Given the description of an element on the screen output the (x, y) to click on. 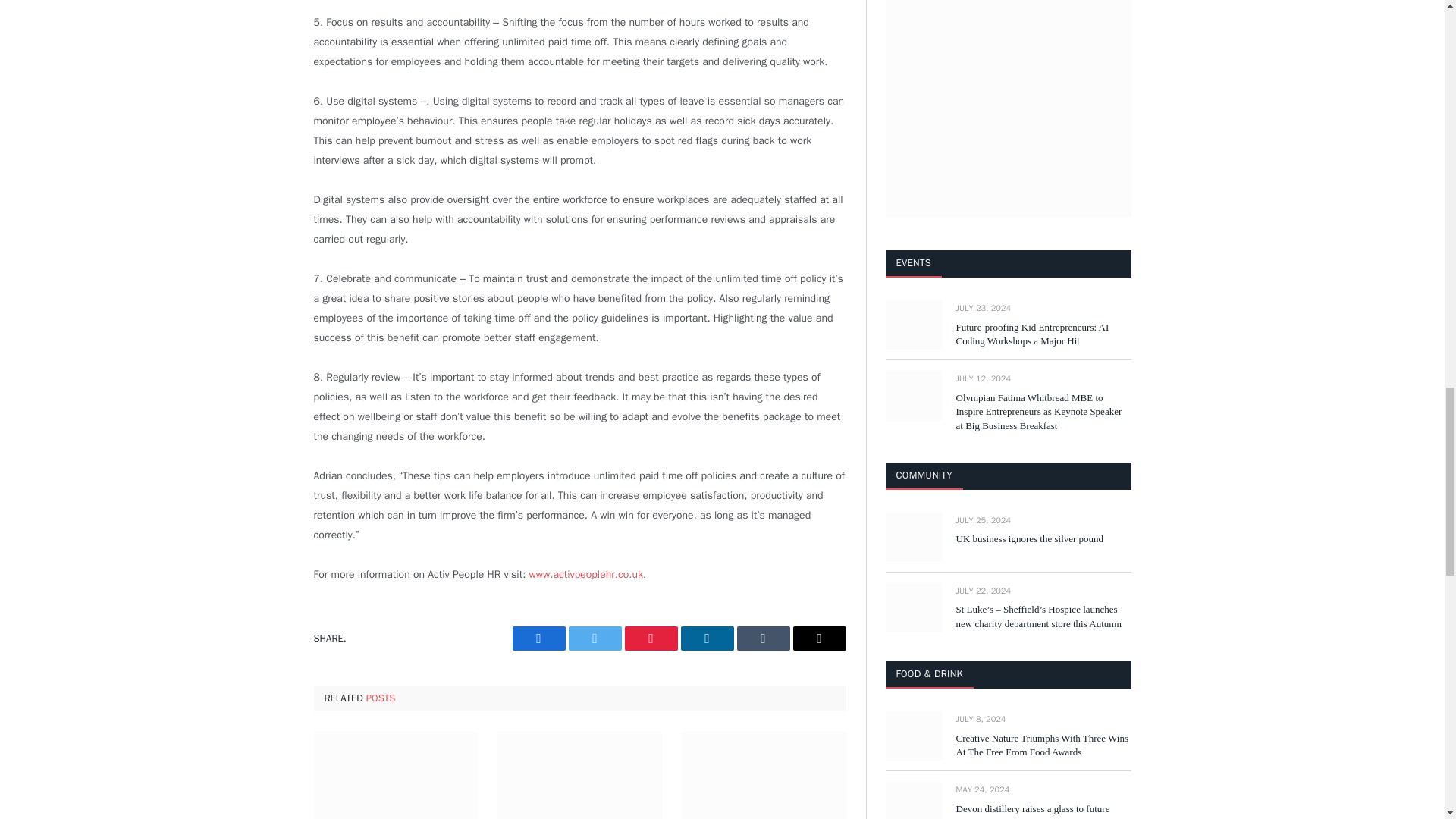
Share on LinkedIn (707, 638)
Share on Facebook (539, 638)
Share on Pinterest (651, 638)
